Given the description of an element on the screen output the (x, y) to click on. 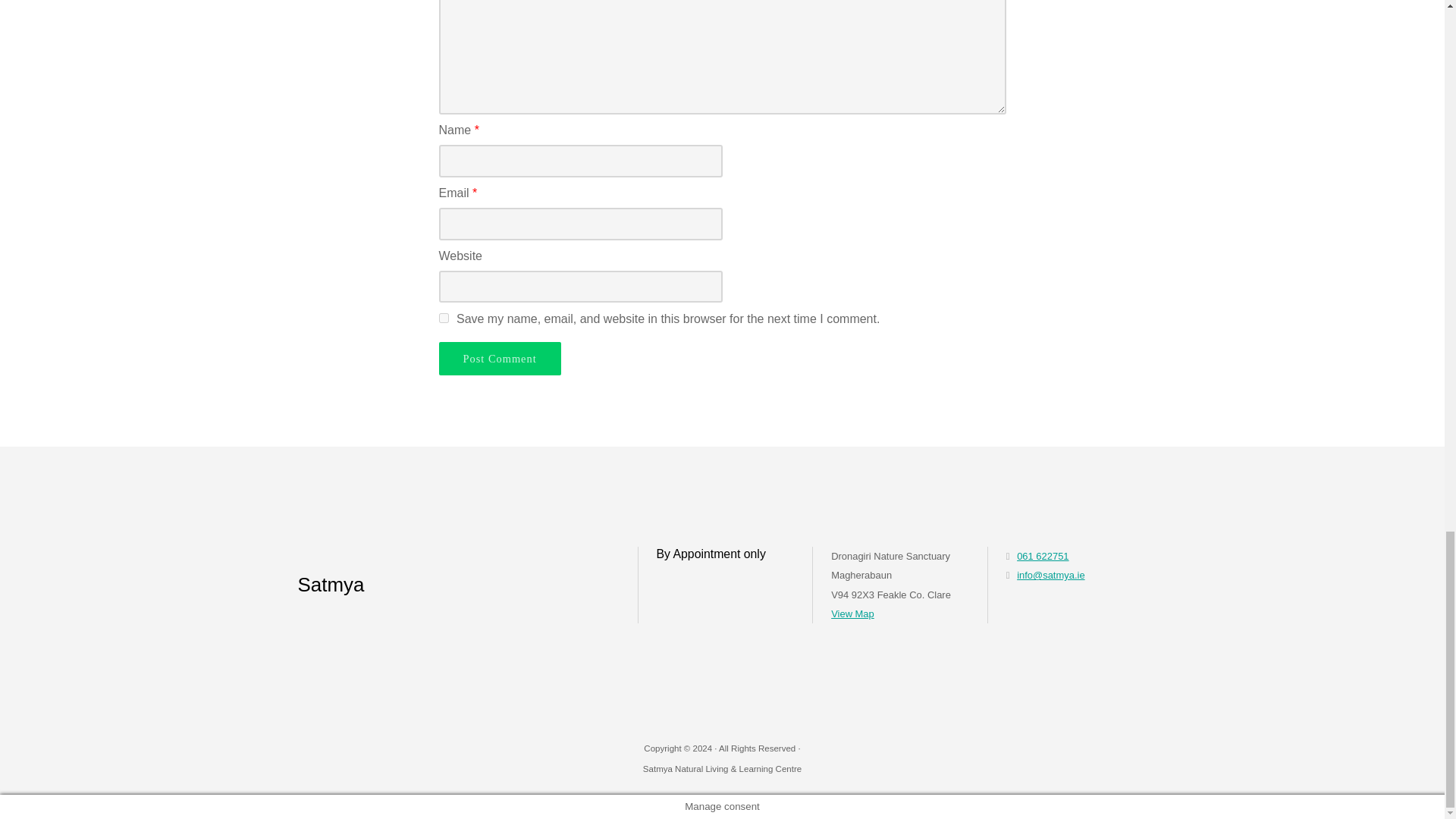
Post Comment (499, 358)
View Map (853, 613)
061 622751 (1042, 555)
Post Comment (499, 358)
yes (443, 317)
